Given the description of an element on the screen output the (x, y) to click on. 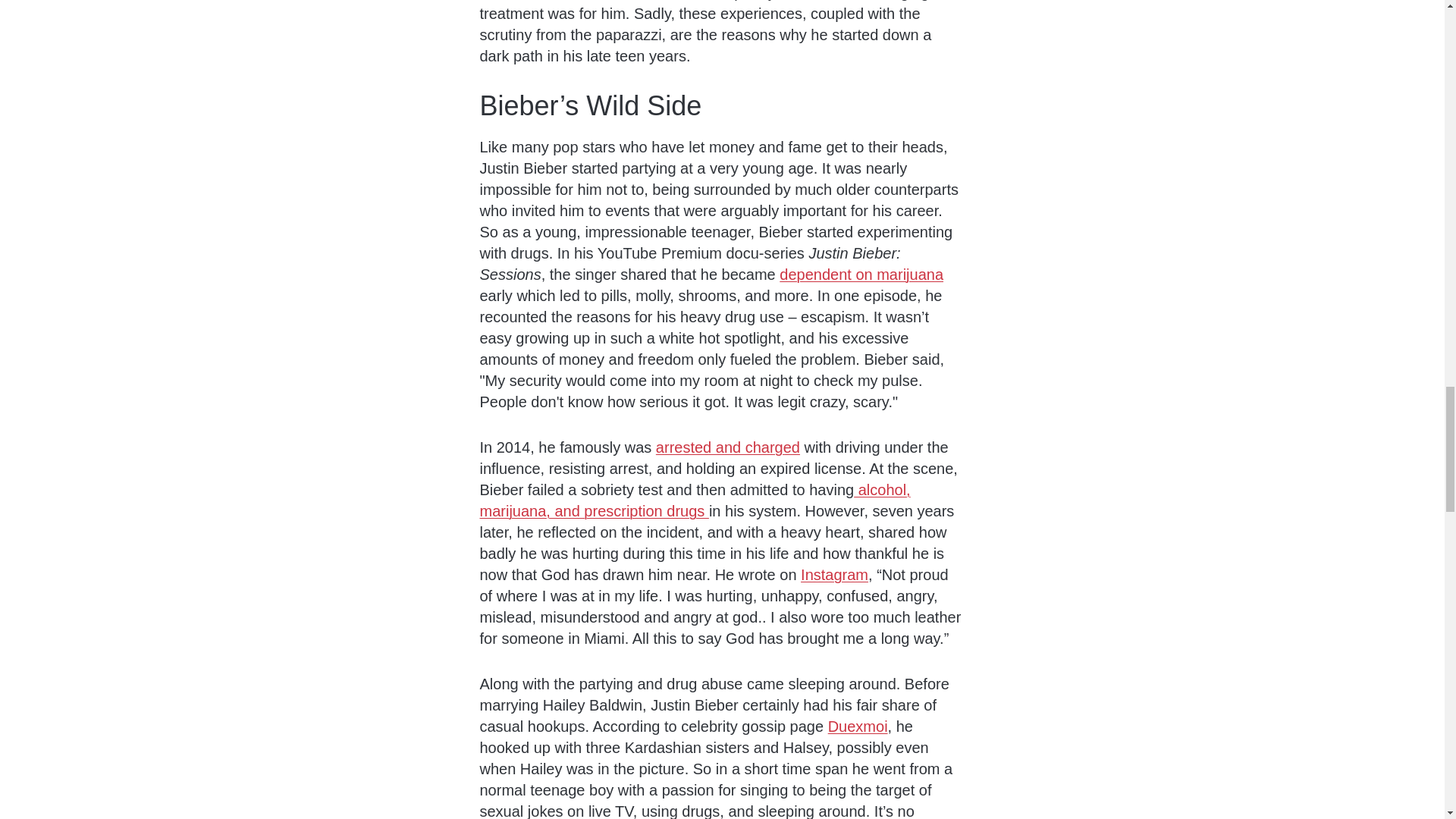
Duexmoi (858, 726)
alcohol, marijuana, and prescription drugs (694, 500)
dependent on marijuana (860, 274)
arrested and charged (727, 446)
Instagram (833, 574)
